Given the description of an element on the screen output the (x, y) to click on. 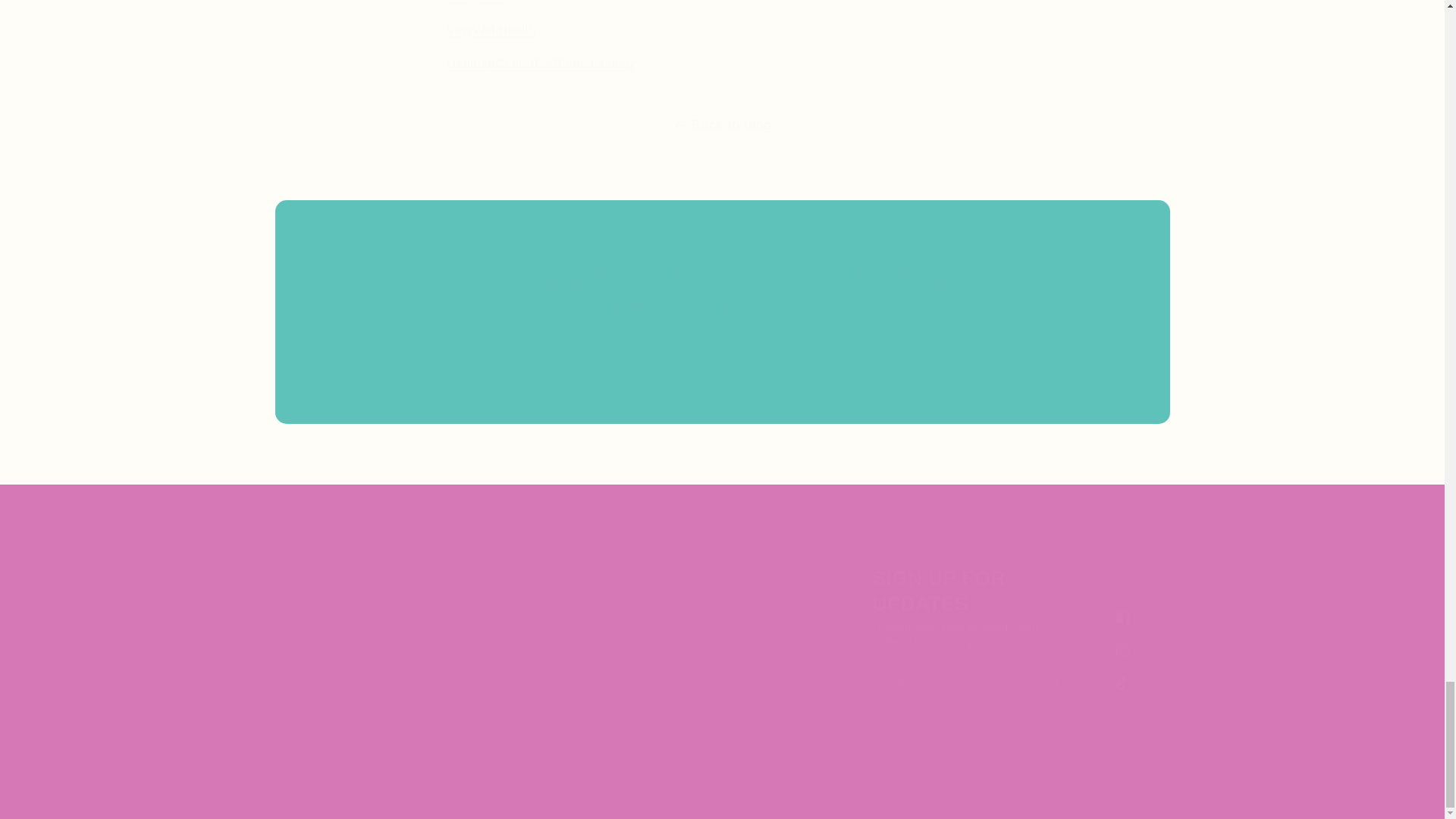
Wikipedia (474, 1)
Refund policy (582, 780)
Explanation of cordyceps (474, 1)
NationalCenterForBiotechnology (541, 63)
Facebook (1121, 616)
Terms of service (649, 796)
Privacy policy (655, 780)
About Us (657, 597)
TikTok (1121, 684)
Where to find cordyceps (491, 29)
Contact Us (661, 674)
VeryWellHealth (491, 29)
Email (722, 375)
Shop (647, 648)
